Given the description of an element on the screen output the (x, y) to click on. 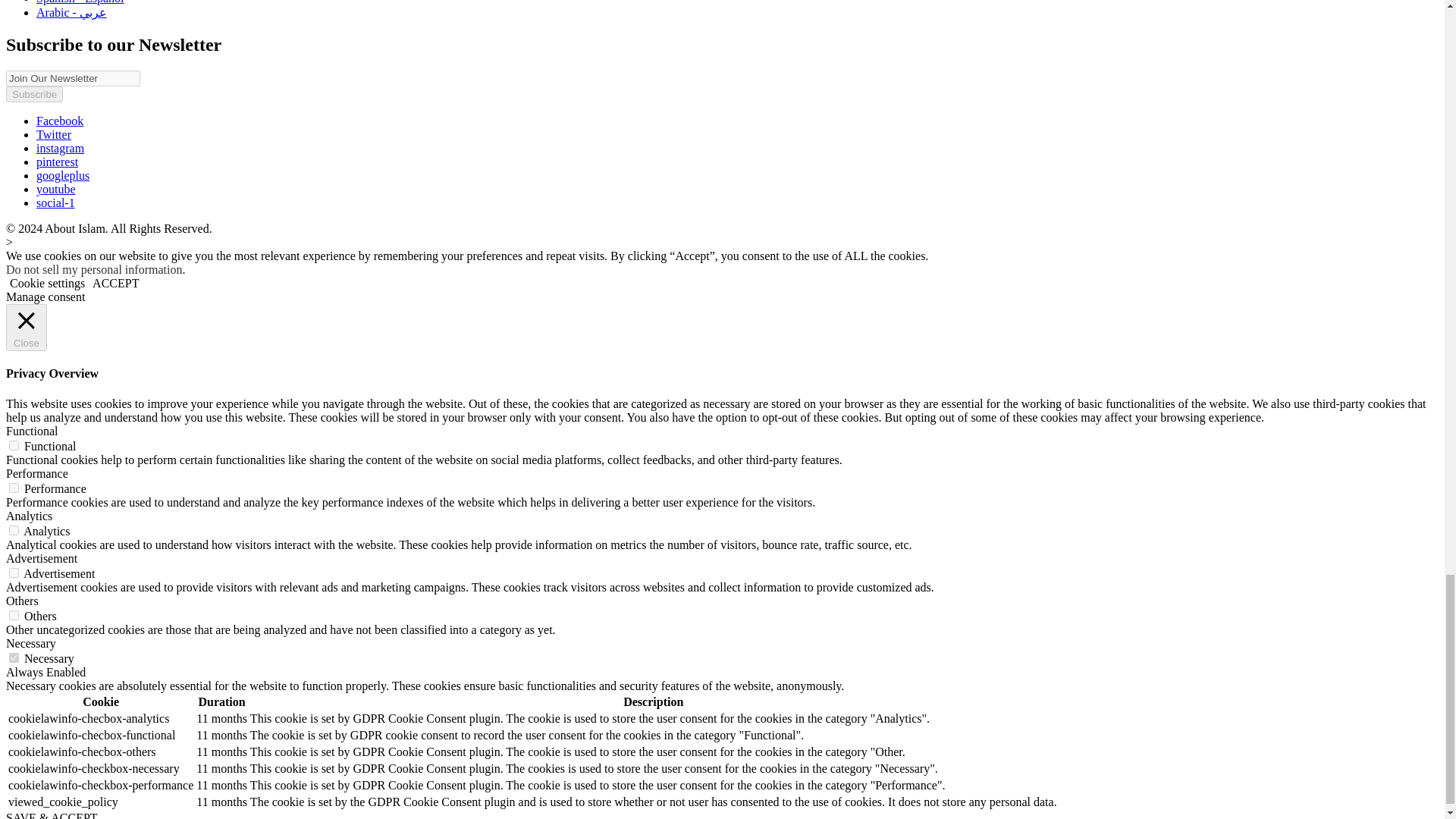
Subscribe (33, 94)
on (13, 614)
youtube (55, 188)
on (13, 572)
googleplus (62, 174)
Twitter (53, 133)
on (13, 444)
Facebook (59, 120)
on (13, 529)
pinterest (57, 161)
instagram (60, 147)
on (13, 656)
on (13, 487)
Join Our Newsletter (72, 78)
